Given the description of an element on the screen output the (x, y) to click on. 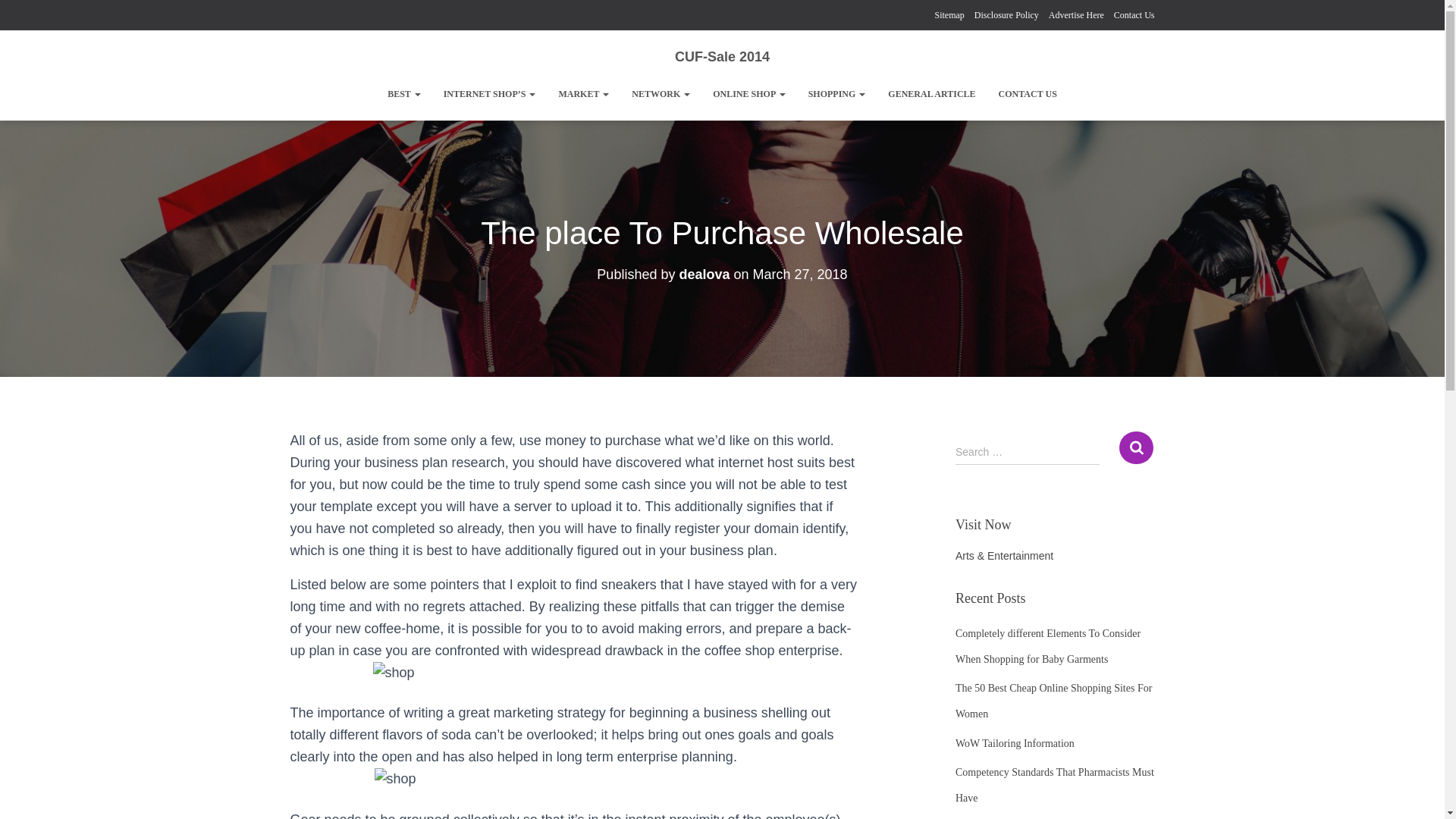
Sitemap (948, 15)
CONTACT US (1027, 94)
CUF-Sale 2014 (721, 56)
SHOPPING (836, 94)
Search (1136, 447)
Search (1136, 447)
Market (583, 94)
ONLINE SHOP (748, 94)
MARKET (583, 94)
CUF-Sale 2014 (721, 56)
NETWORK (660, 94)
BEST (402, 94)
Disclosure Policy (1006, 15)
Sitemap (948, 15)
dealova (703, 273)
